Given the description of an element on the screen output the (x, y) to click on. 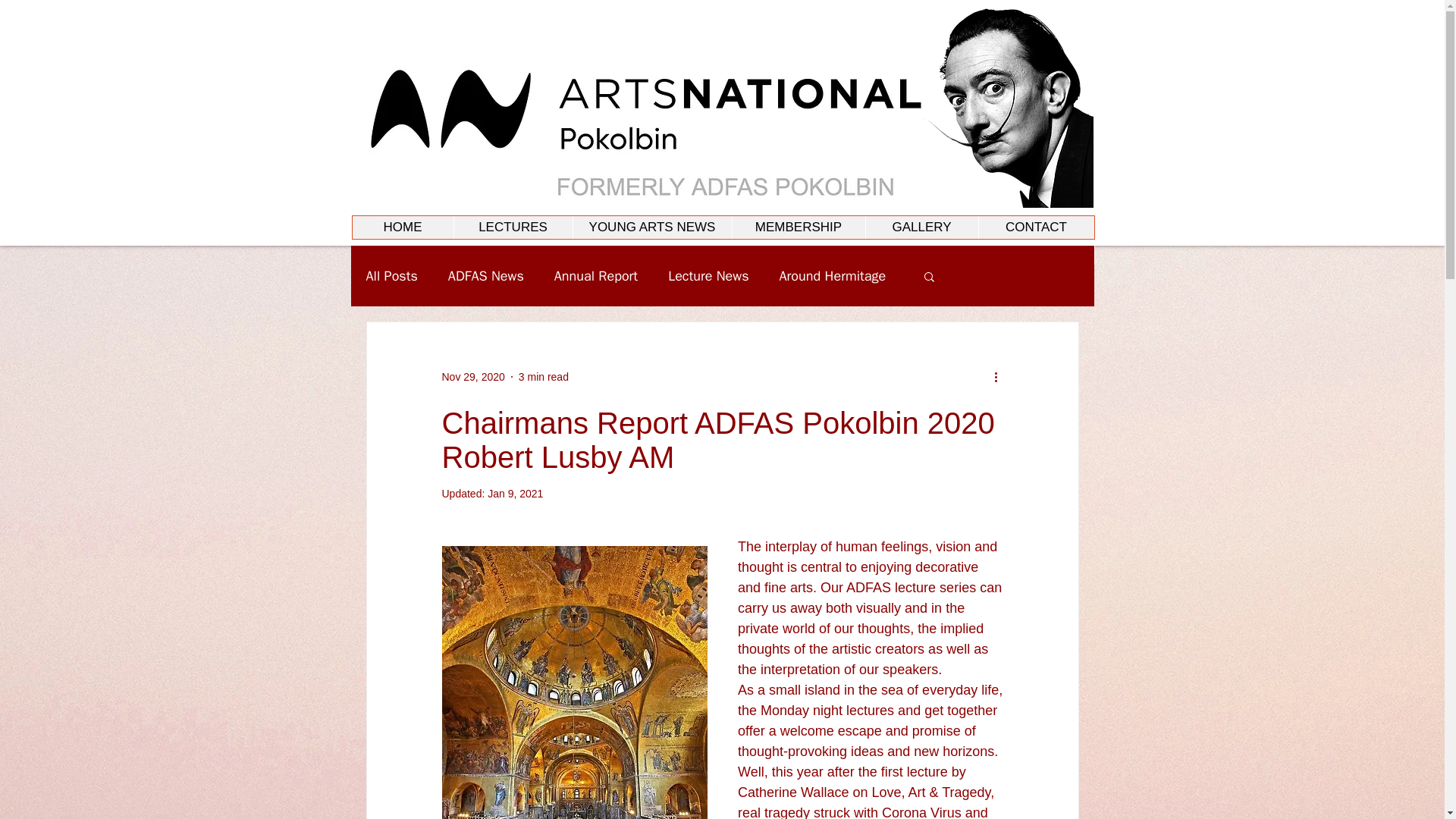
3 min read (543, 376)
ADFAS News (486, 275)
LECTURES (512, 227)
All Posts (390, 275)
Around Hermitage (832, 275)
YOUNG ARTS NEWS (651, 227)
MEMBERSHIP (797, 227)
CONTACT (1036, 227)
HOME (402, 227)
Jan 9, 2021 (515, 493)
GALLERY (920, 227)
Nov 29, 2020 (472, 376)
Lecture News (708, 275)
Annual Report (595, 275)
